Given the description of an element on the screen output the (x, y) to click on. 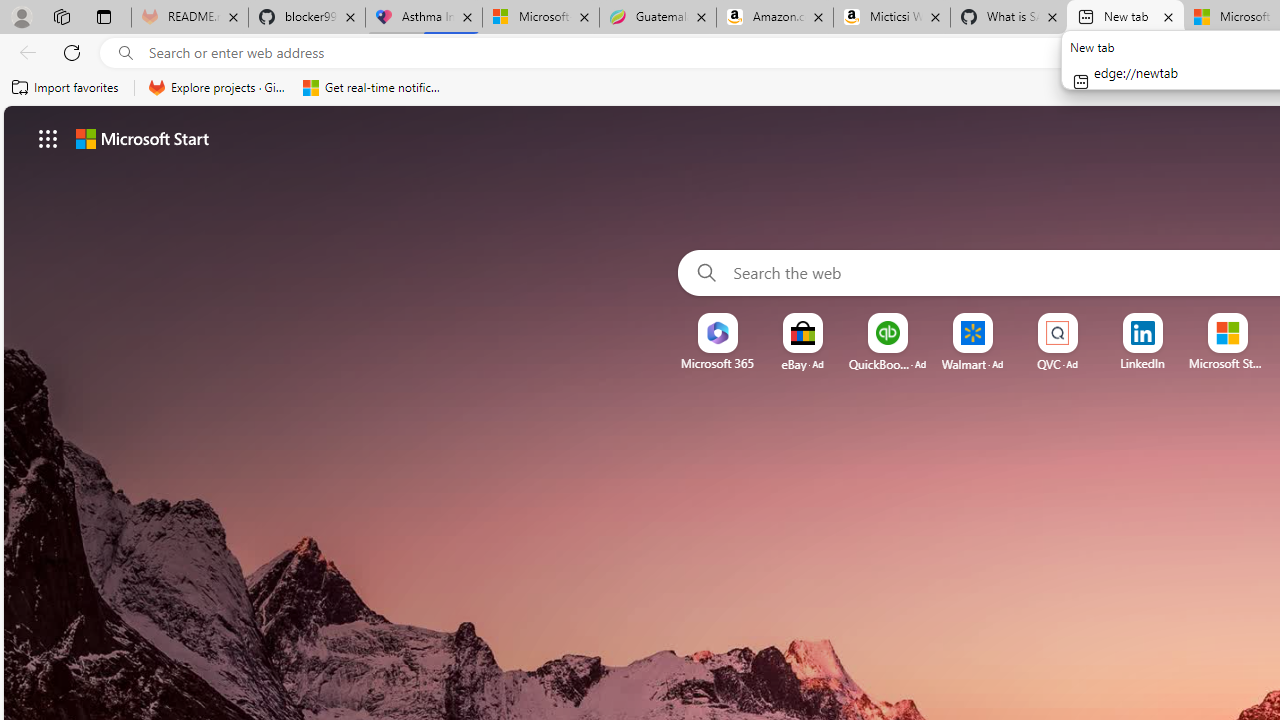
Search icon (125, 53)
App launcher (47, 138)
More Options (1260, 320)
Asthma Inhalers: Names and Types (424, 17)
